Given the description of an element on the screen output the (x, y) to click on. 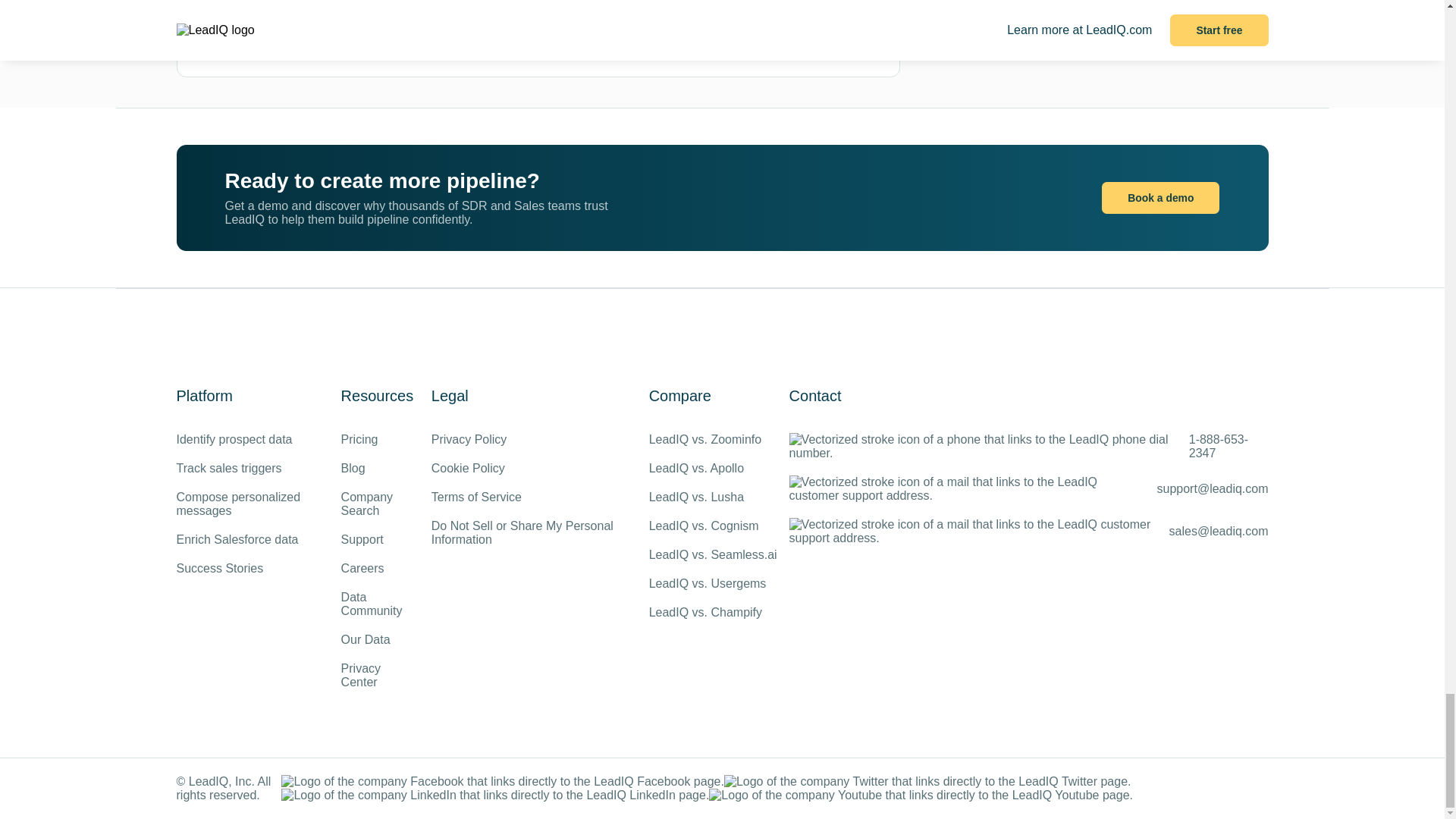
Find more Mass General Brigham email formats (635, 27)
